Given the description of an element on the screen output the (x, y) to click on. 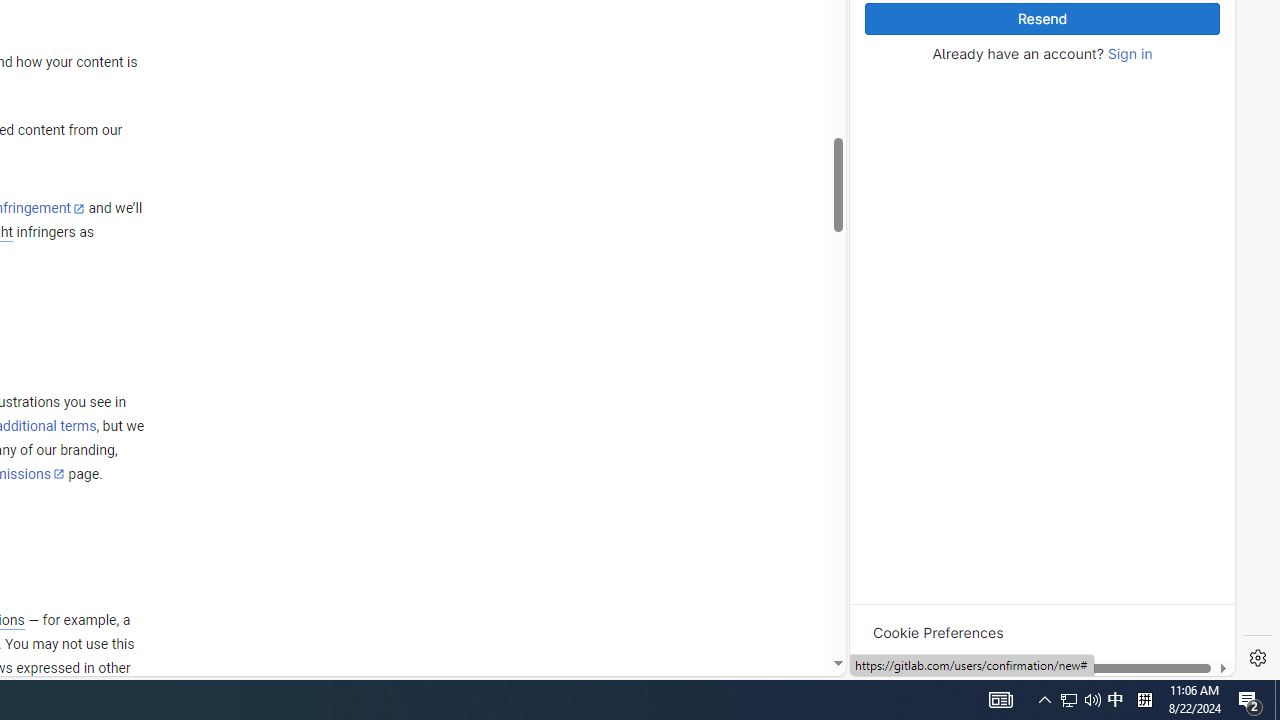
View details (1145, 256)
Cookie Preferences (938, 632)
GitLab (966, 678)
View details (1145, 255)
Resend (1042, 19)
